Given the description of an element on the screen output the (x, y) to click on. 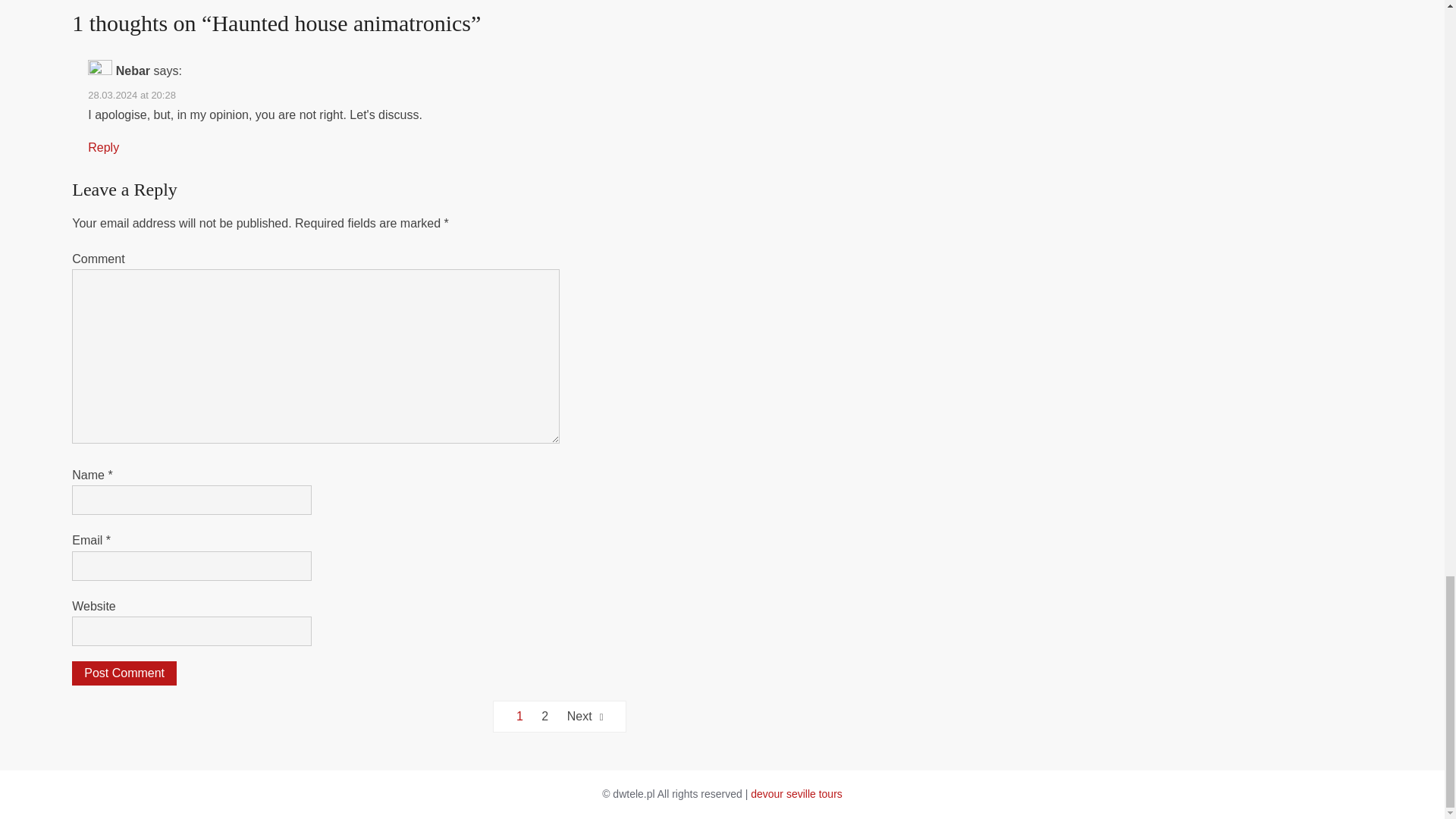
Next (585, 716)
Reply (103, 146)
28.03.2024 at 20:28 (131, 94)
Post Comment (123, 672)
devour seville tours (797, 793)
Post Comment (123, 672)
